Given the description of an element on the screen output the (x, y) to click on. 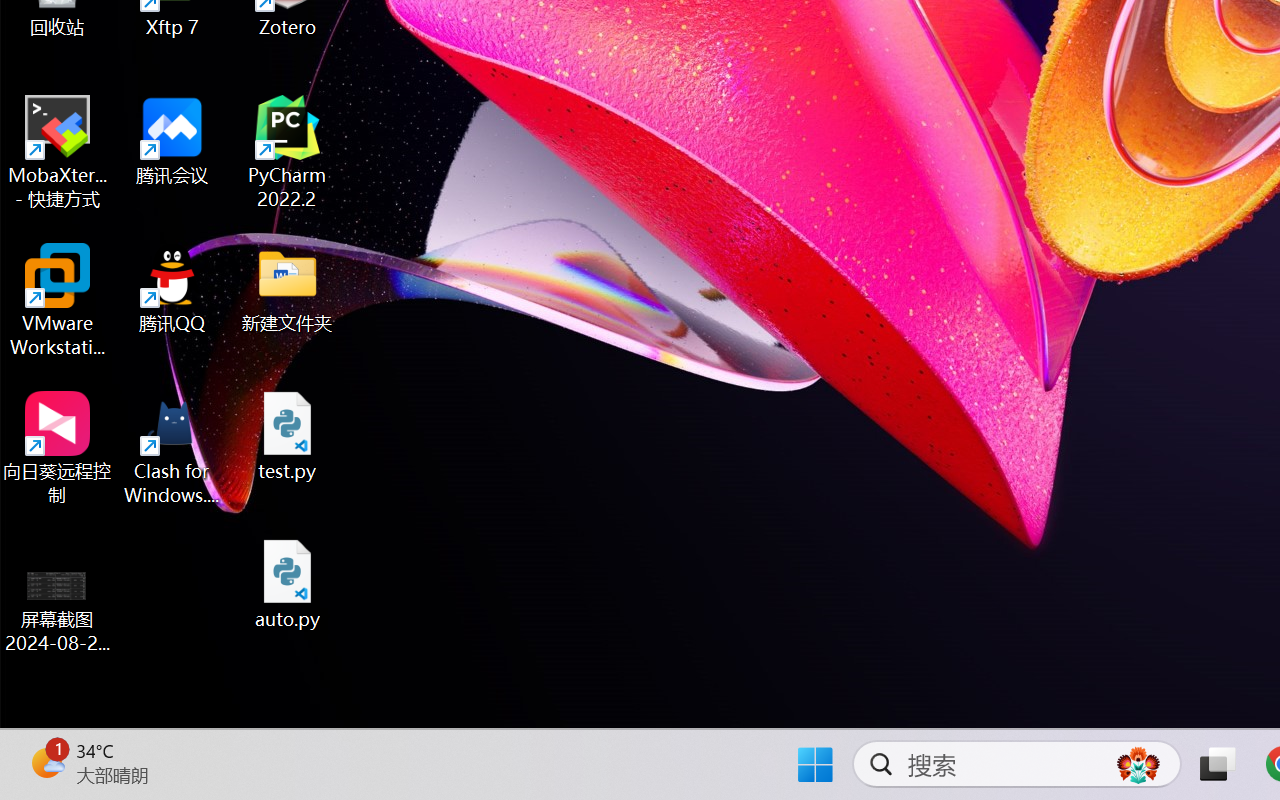
PyCharm 2022.2 (287, 152)
VMware Workstation Pro (57, 300)
